Given the description of an element on the screen output the (x, y) to click on. 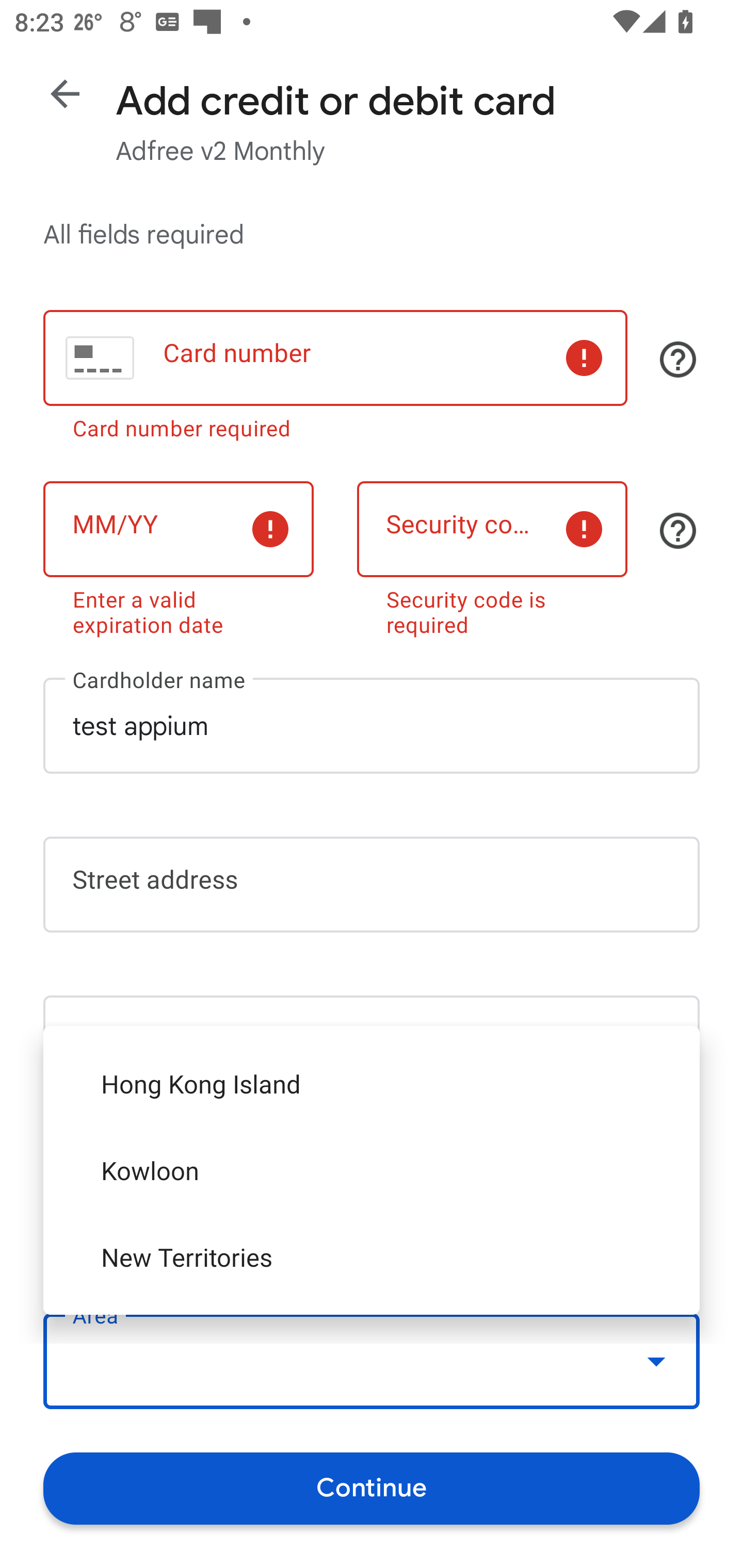
Back (64, 93)
Card number (335, 358)
Button, shows cards that are accepted for payment (677, 359)
Security code Error Security code is required (492, 555)
Expiration date, 2 digit month, 2 digit year (178, 529)
Security code (492, 529)
Security code help (677, 530)
test appium (371, 725)
Street address (371, 884)
Apt, suite, etc. (optional) (371, 1043)
District (371, 1201)
Area (371, 1361)
Show dropdown menu (655, 1360)
Continue (371, 1487)
